Given the description of an element on the screen output the (x, y) to click on. 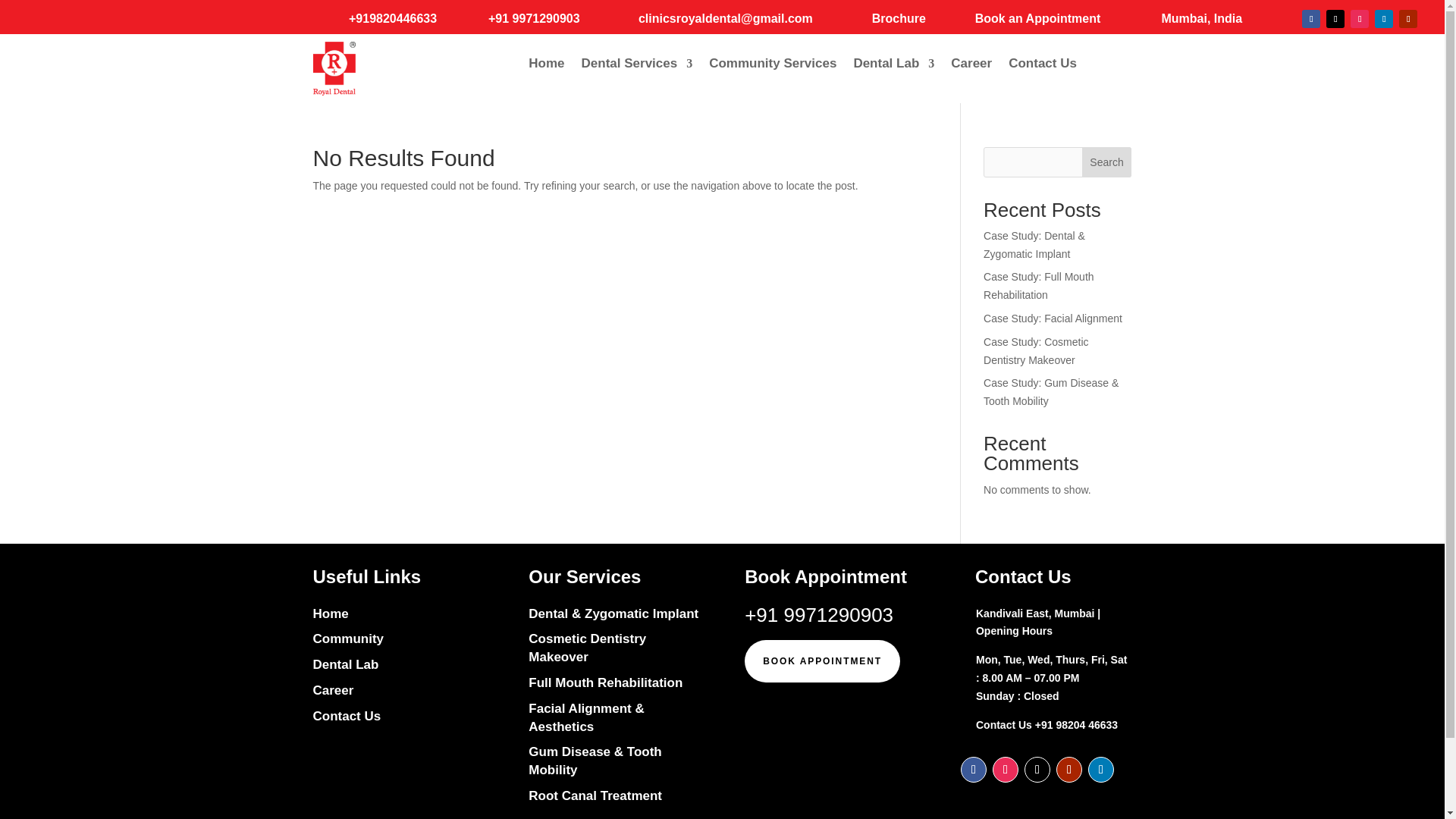
Community Services (772, 66)
Career (970, 66)
Search (1106, 162)
Case Study: Facial Alignment (1053, 318)
Follow on Instagram (1359, 18)
Follow on LinkedIn (1383, 18)
Dental Lab (893, 66)
Follow on X (1334, 18)
Follow on X (1037, 769)
Follow on Youtube (1407, 18)
